Given the description of an element on the screen output the (x, y) to click on. 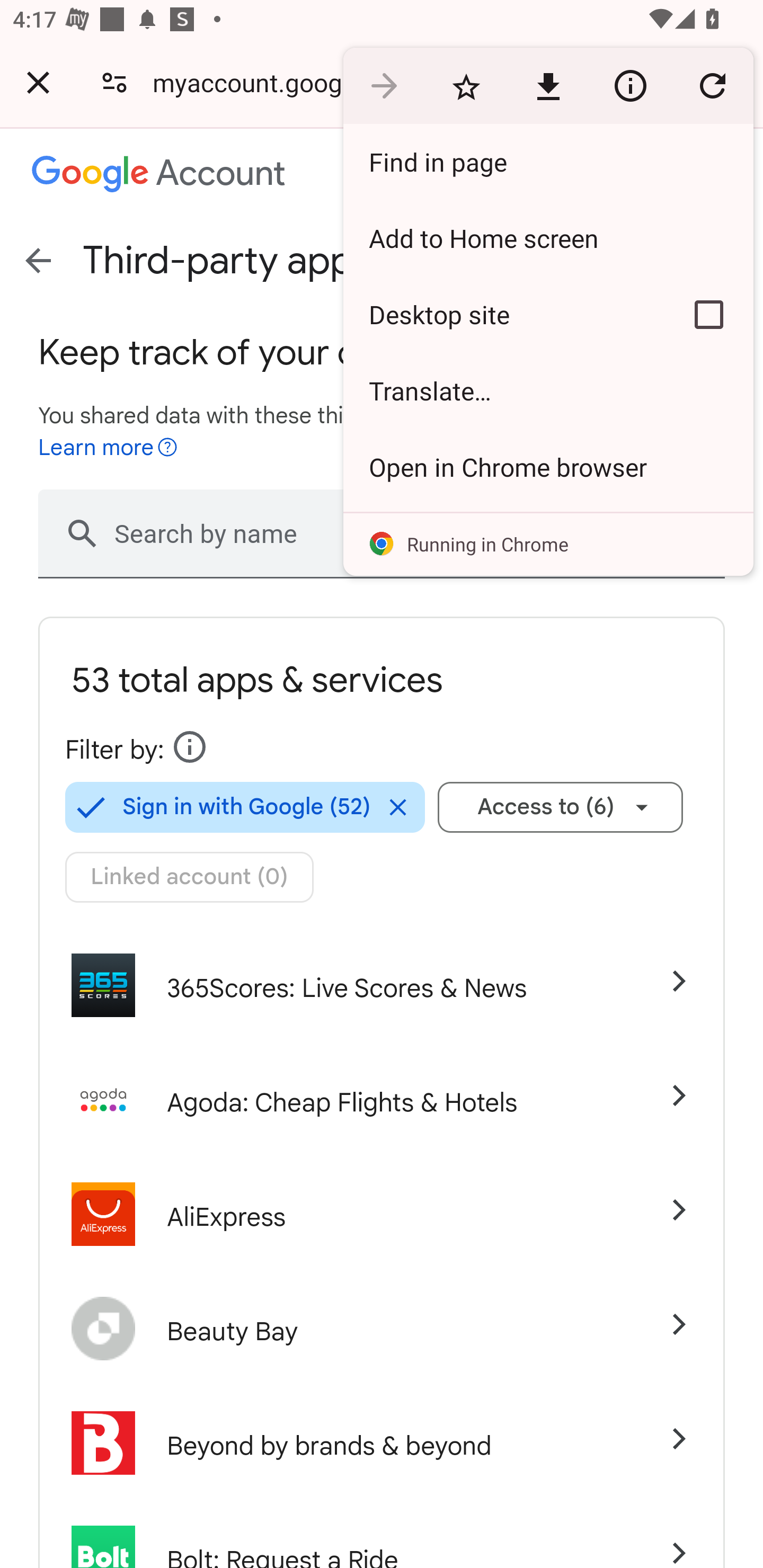
Go forward (383, 85)
Bookmark (465, 85)
Download this page (548, 85)
View site information (630, 85)
Refresh (712, 85)
Find in page (548, 161)
Add to Home screen (548, 237)
Desktop site Turn on Request desktop site (503, 313)
Translate… (548, 390)
Open in Chrome browser (548, 466)
